Given the description of an element on the screen output the (x, y) to click on. 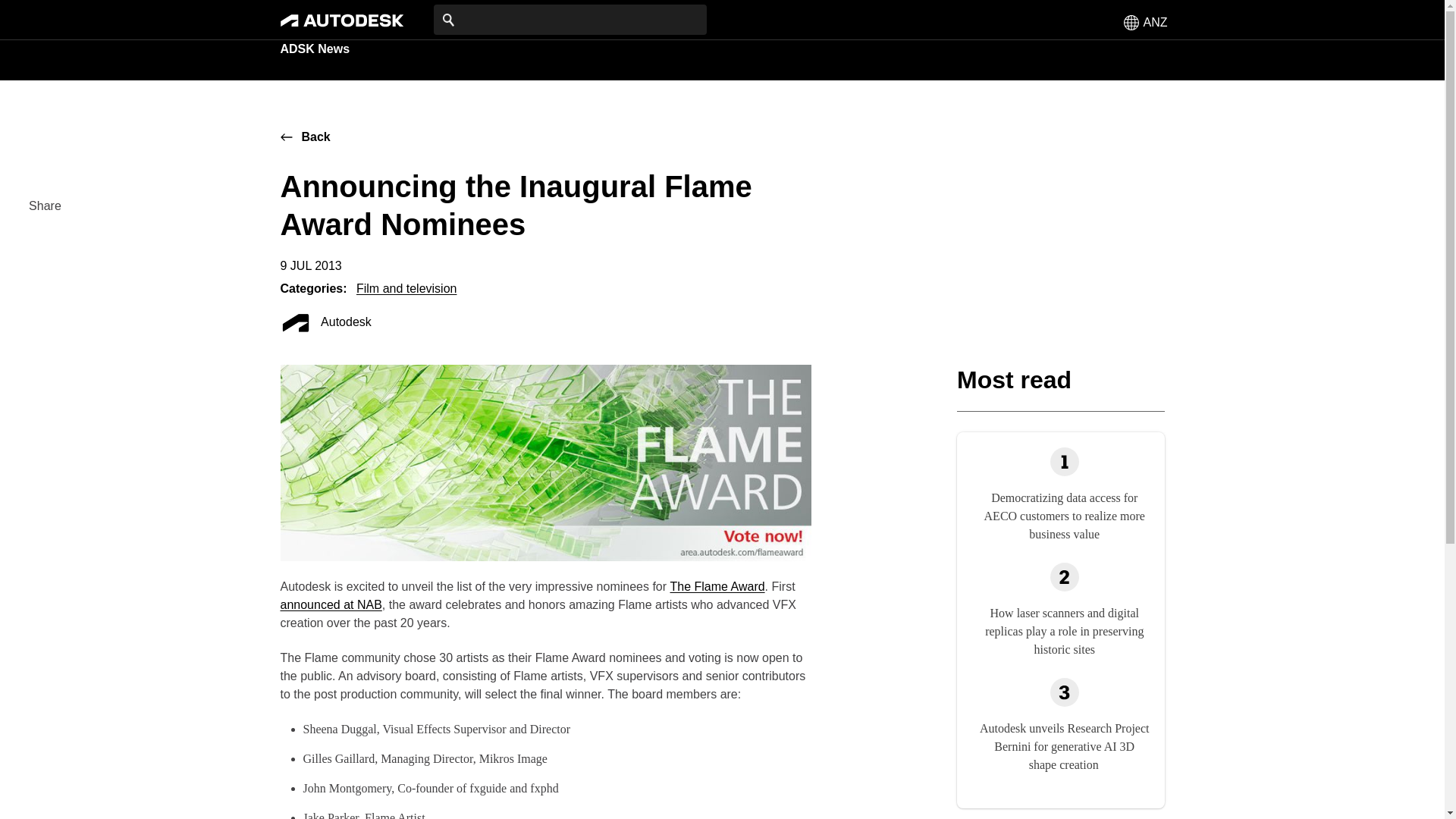
ANZ (1145, 21)
